Given the description of an element on the screen output the (x, y) to click on. 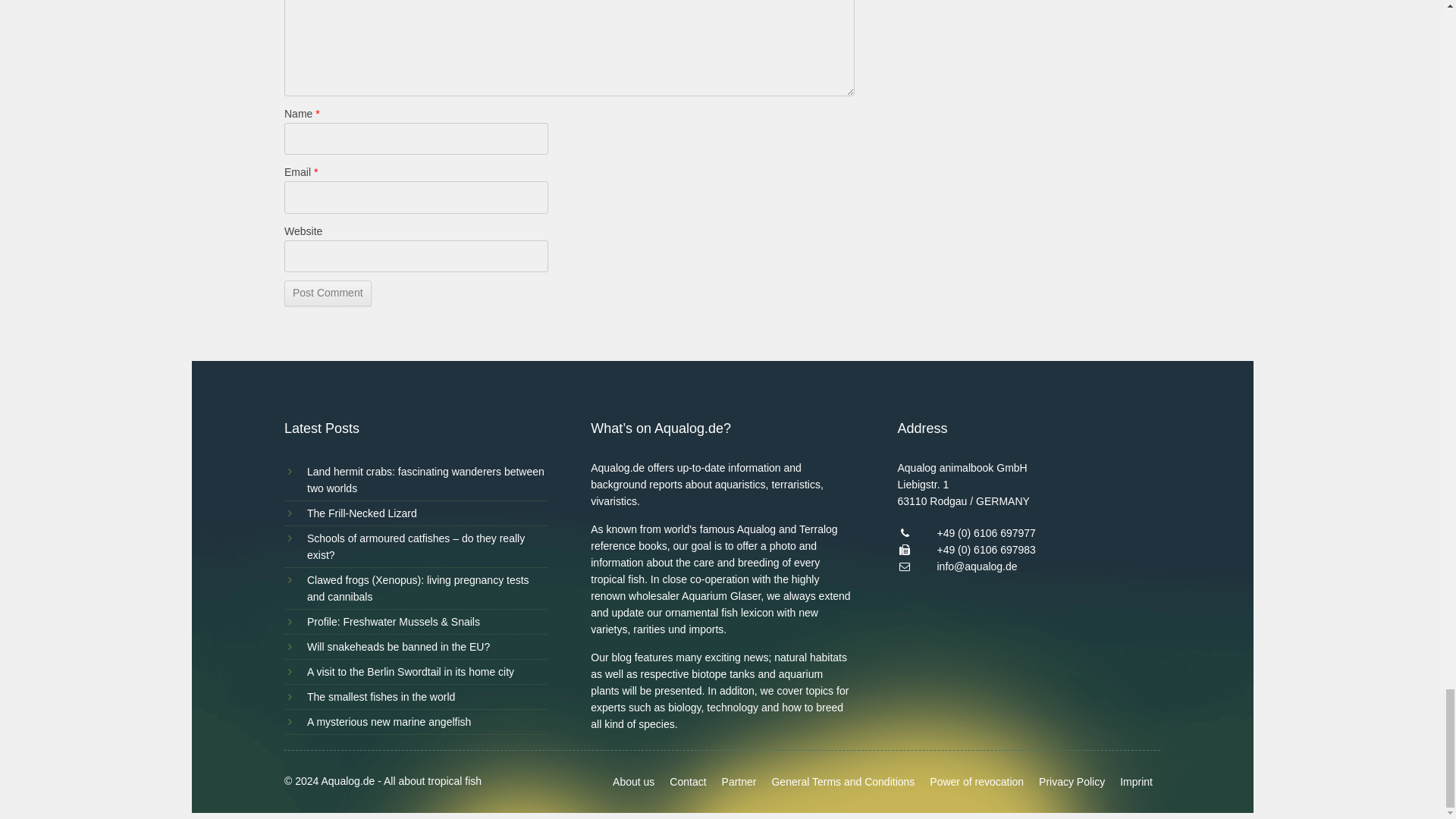
Post Comment (327, 293)
